Given the description of an element on the screen output the (x, y) to click on. 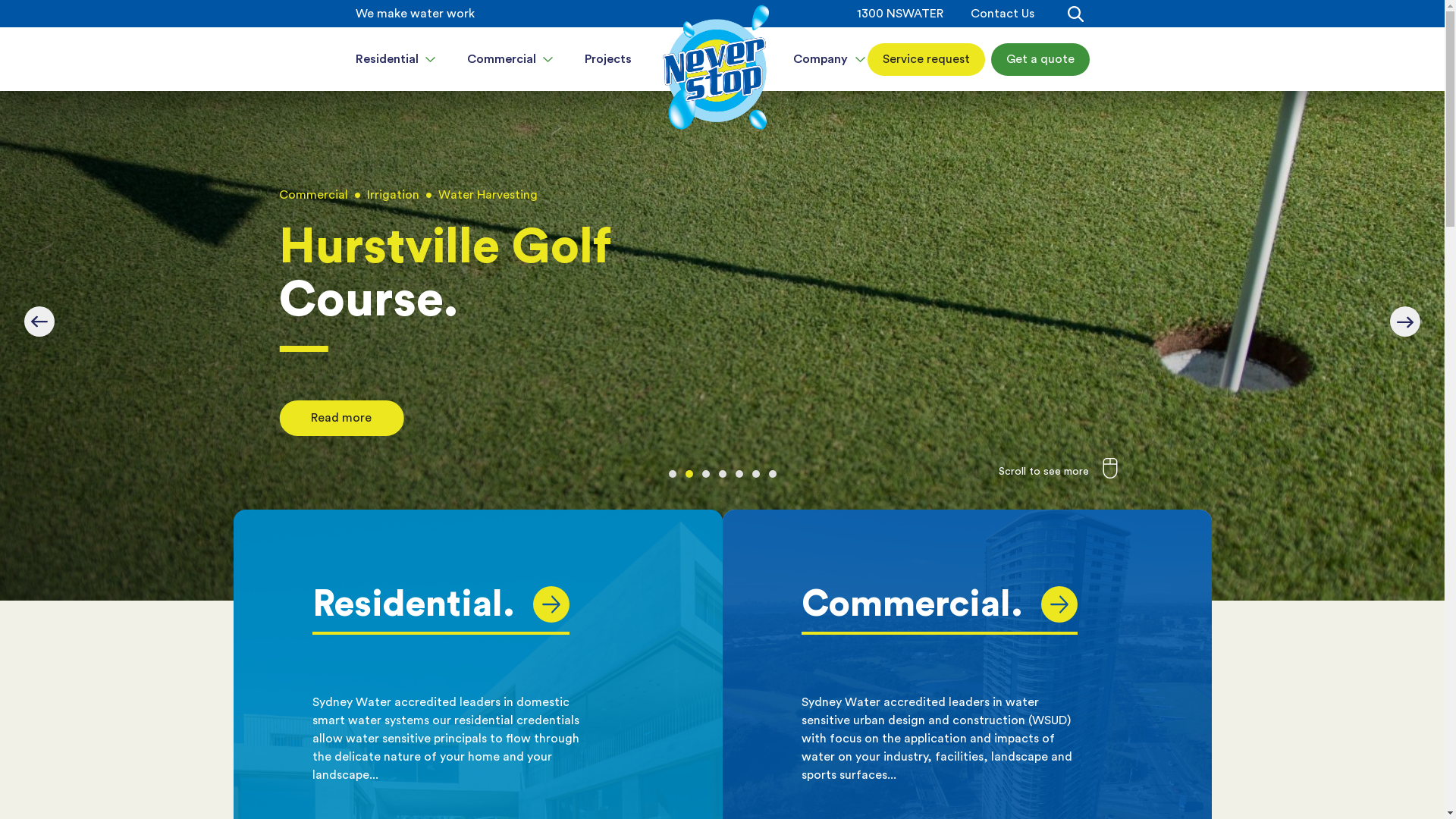
Company Element type: text (829, 59)
Commercial. Element type: text (938, 604)
Commercial Element type: text (510, 59)
Residential. Element type: text (440, 604)
Contact Us Element type: text (1002, 13)
Residential Element type: text (395, 59)
Service request Element type: text (926, 58)
Previous slide Element type: hover (39, 321)
Projects Element type: text (606, 59)
Next slide Element type: hover (1405, 321)
Get a quote Element type: text (1039, 58)
Read more Element type: text (341, 421)
